Given the description of an element on the screen output the (x, y) to click on. 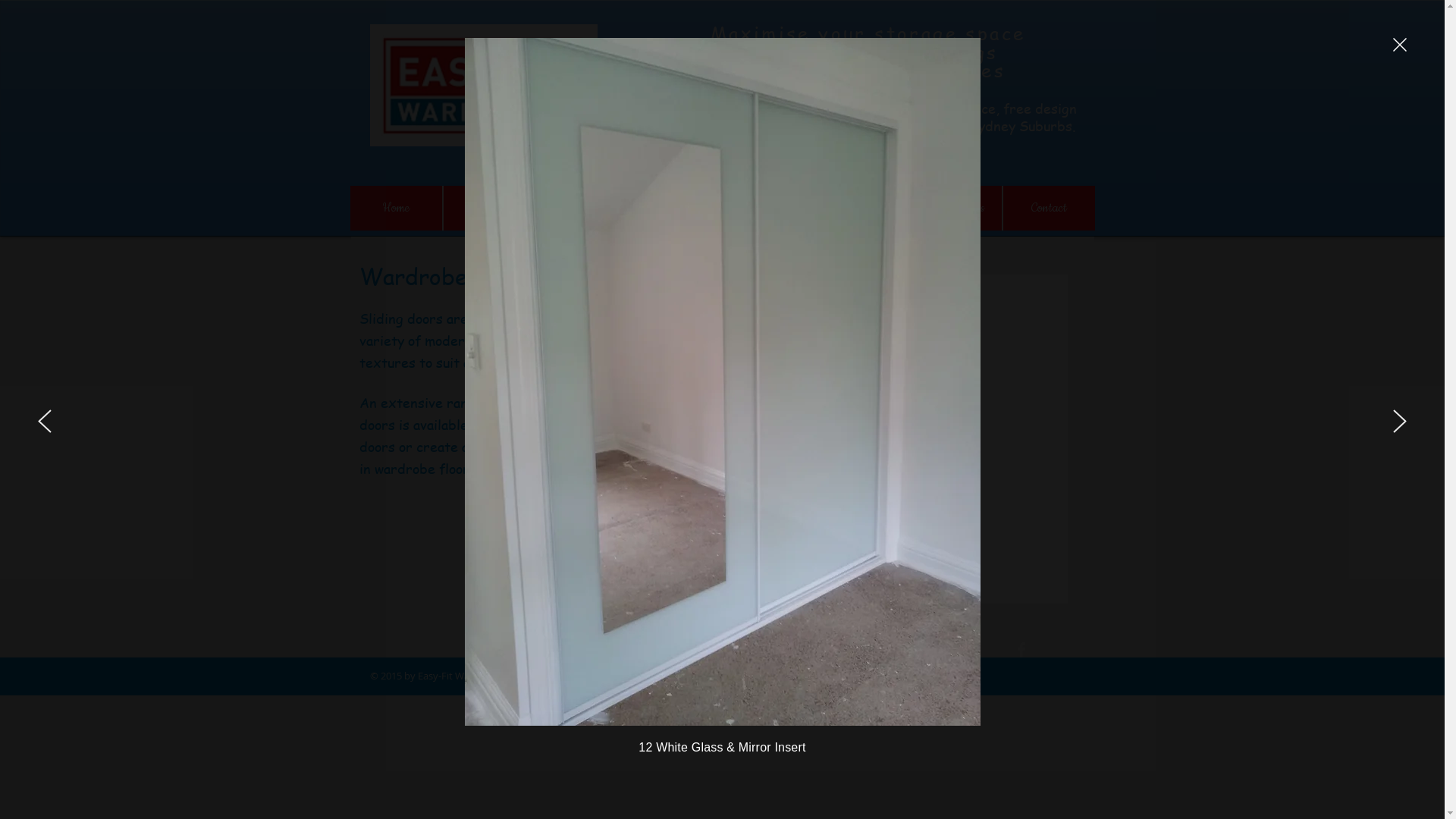
Design Layouts Element type: text (675, 207)
Built-in Internals Element type: text (582, 207)
Wardrobe Doors Element type: text (861, 207)
Contact Element type: text (1048, 207)
About Us Element type: text (488, 207)
EASYFIT.jpg Element type: hover (483, 85)
Testimonials Element type: text (955, 207)
Home Element type: text (396, 207)
